Given the description of an element on the screen output the (x, y) to click on. 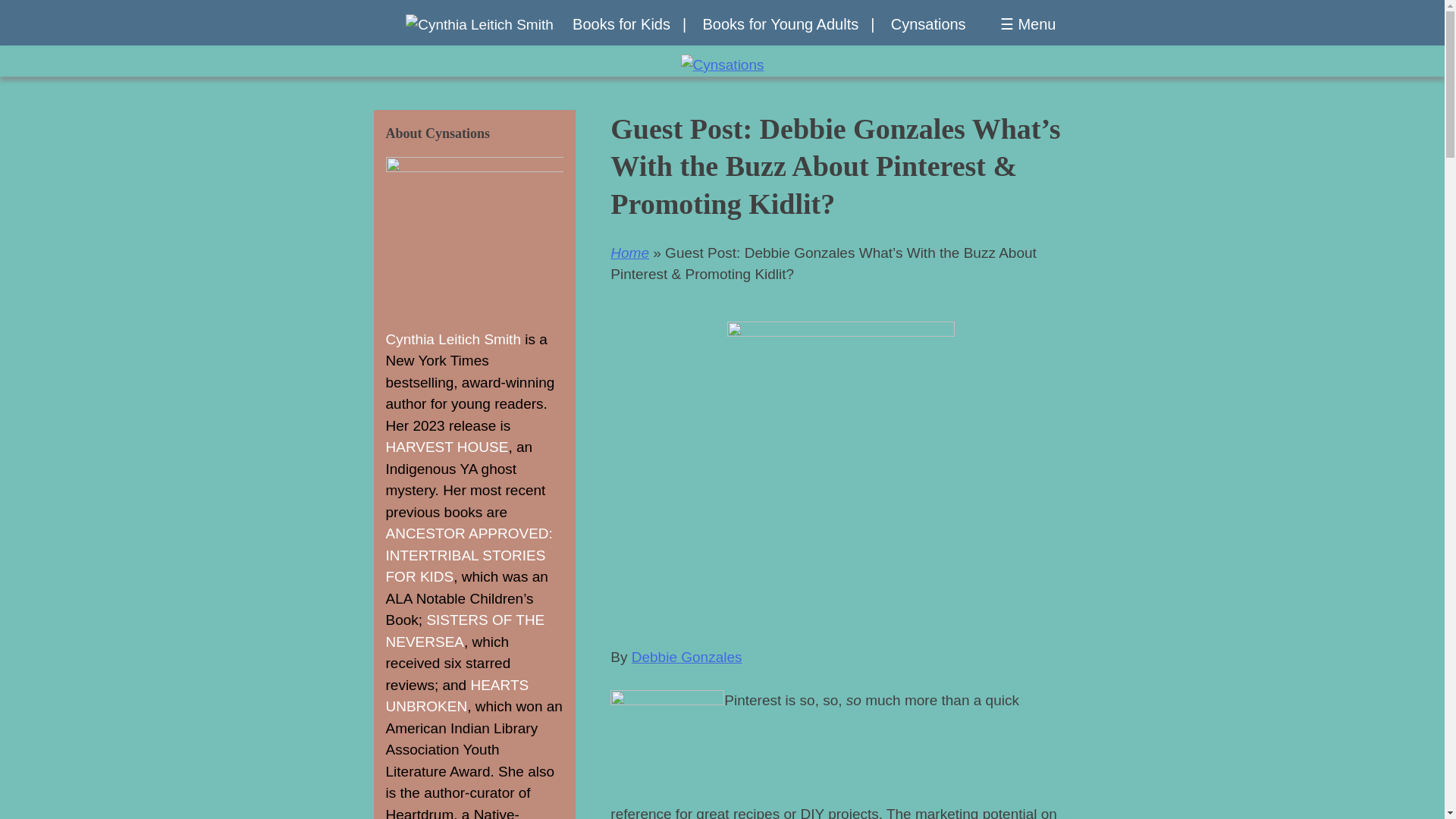
Debbie Gonzales (686, 657)
Books for Young Adults (788, 24)
Cynsations (928, 24)
Books for Kids (628, 24)
Home (629, 252)
